Given the description of an element on the screen output the (x, y) to click on. 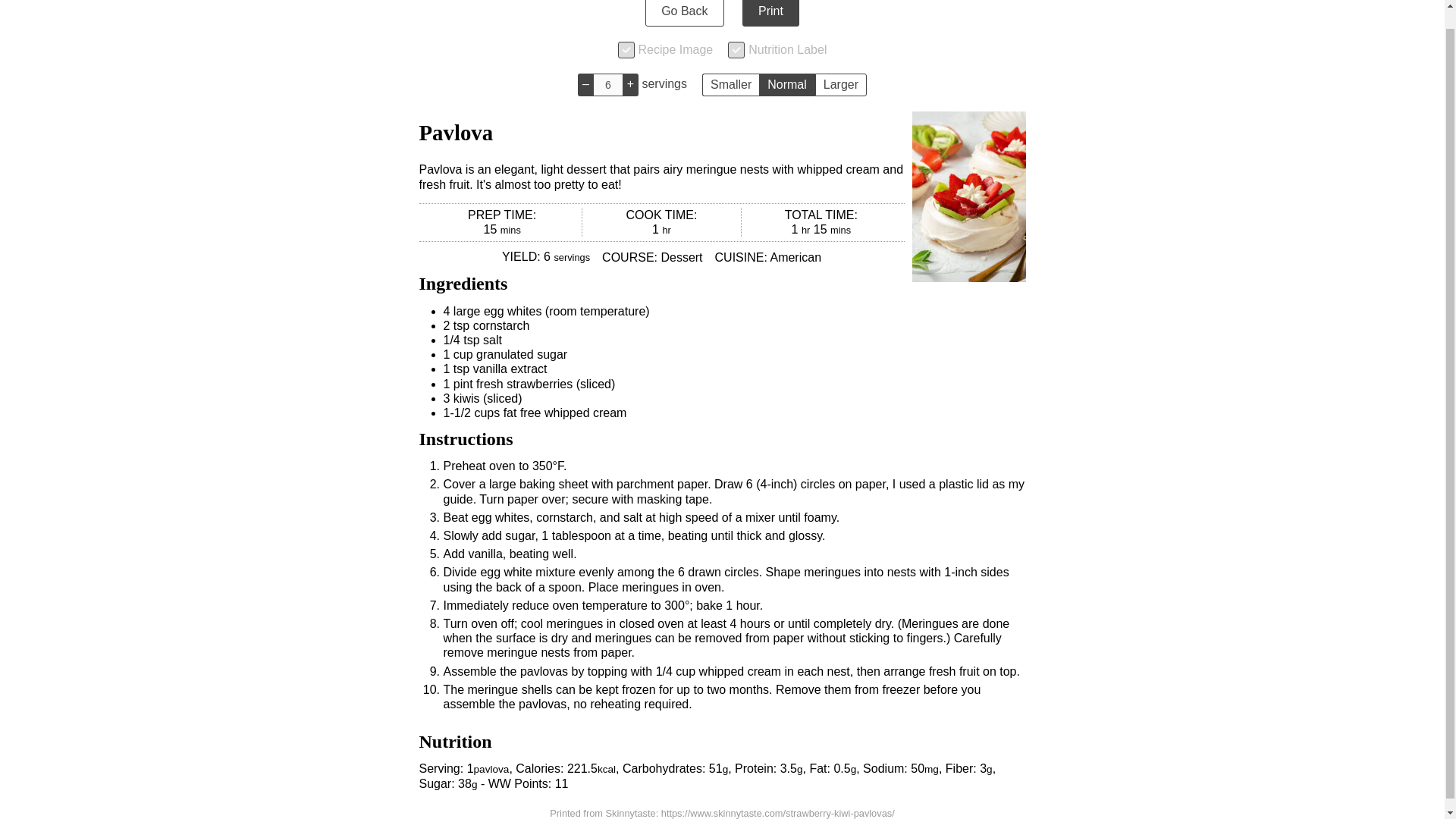
Go Back (684, 13)
Print (770, 13)
Normal (786, 84)
Smaller (729, 84)
6 (607, 84)
Larger (840, 84)
